Given the description of an element on the screen output the (x, y) to click on. 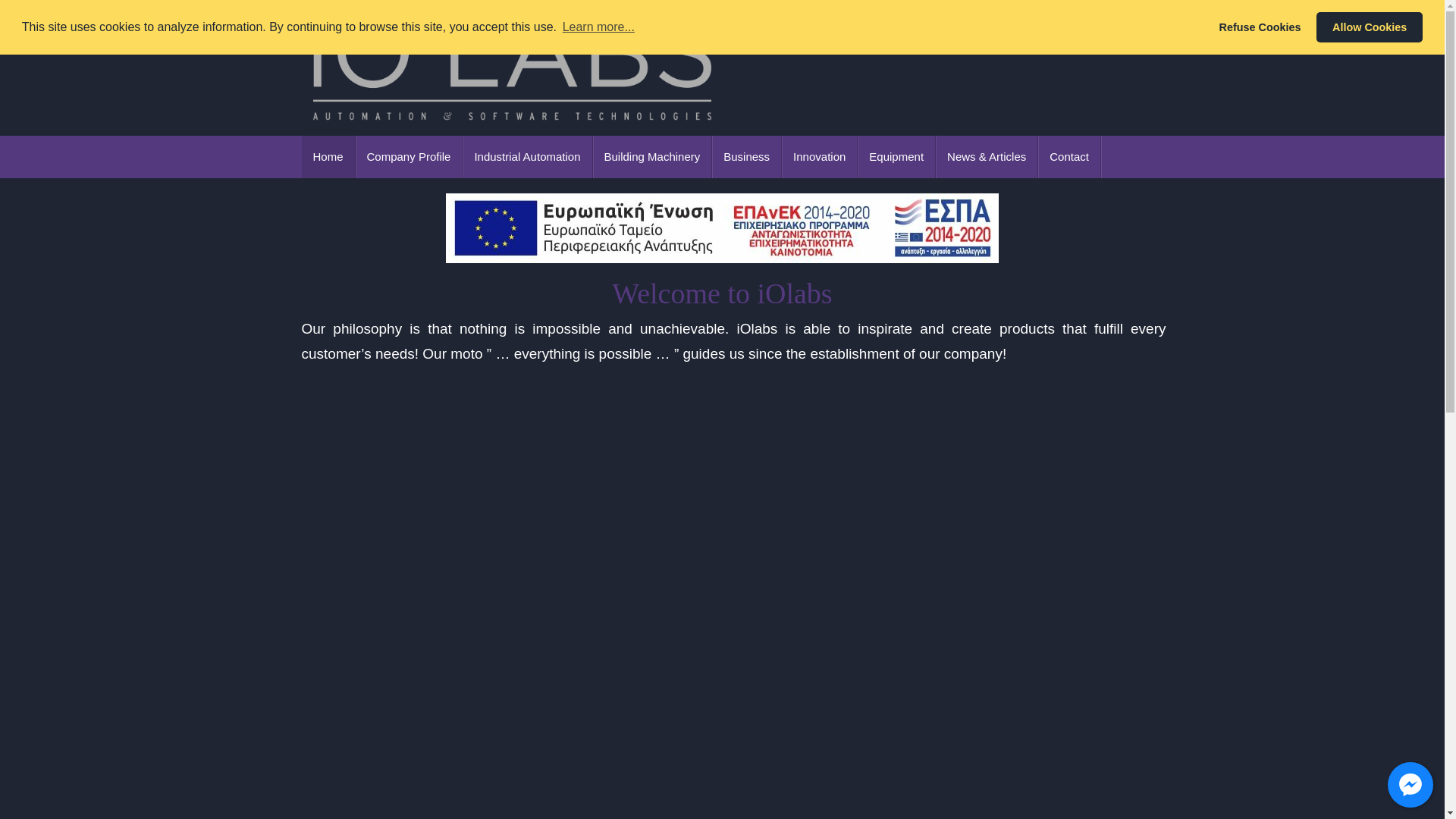
Contact (1069, 156)
Skip to content (34, 9)
Learn more... (598, 26)
Industrial Automation (527, 156)
Company Profile (409, 156)
Contact (1069, 156)
Building Machinery (652, 156)
Equipment (896, 156)
Building Machinery (652, 156)
Business (746, 156)
Company Profile (409, 156)
Allow Cookies (1369, 27)
Equipment (896, 156)
Innovation (819, 156)
